Given the description of an element on the screen output the (x, y) to click on. 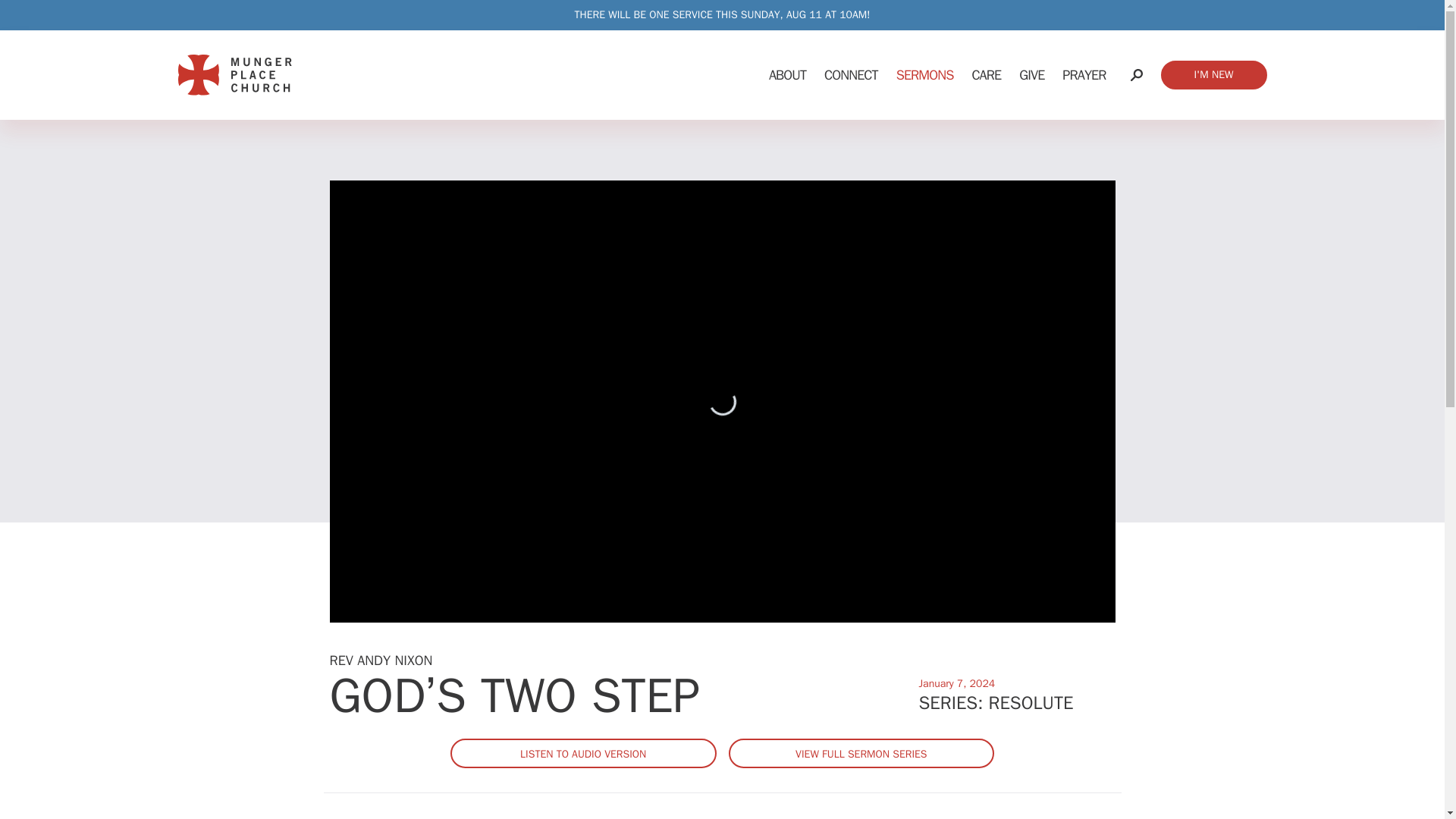
CARE (986, 74)
CONNECT (850, 74)
SERMONS (924, 74)
PRAYER (1083, 74)
I'M NEW (1213, 74)
GIVE (1031, 74)
ABOUT (787, 74)
